Given the description of an element on the screen output the (x, y) to click on. 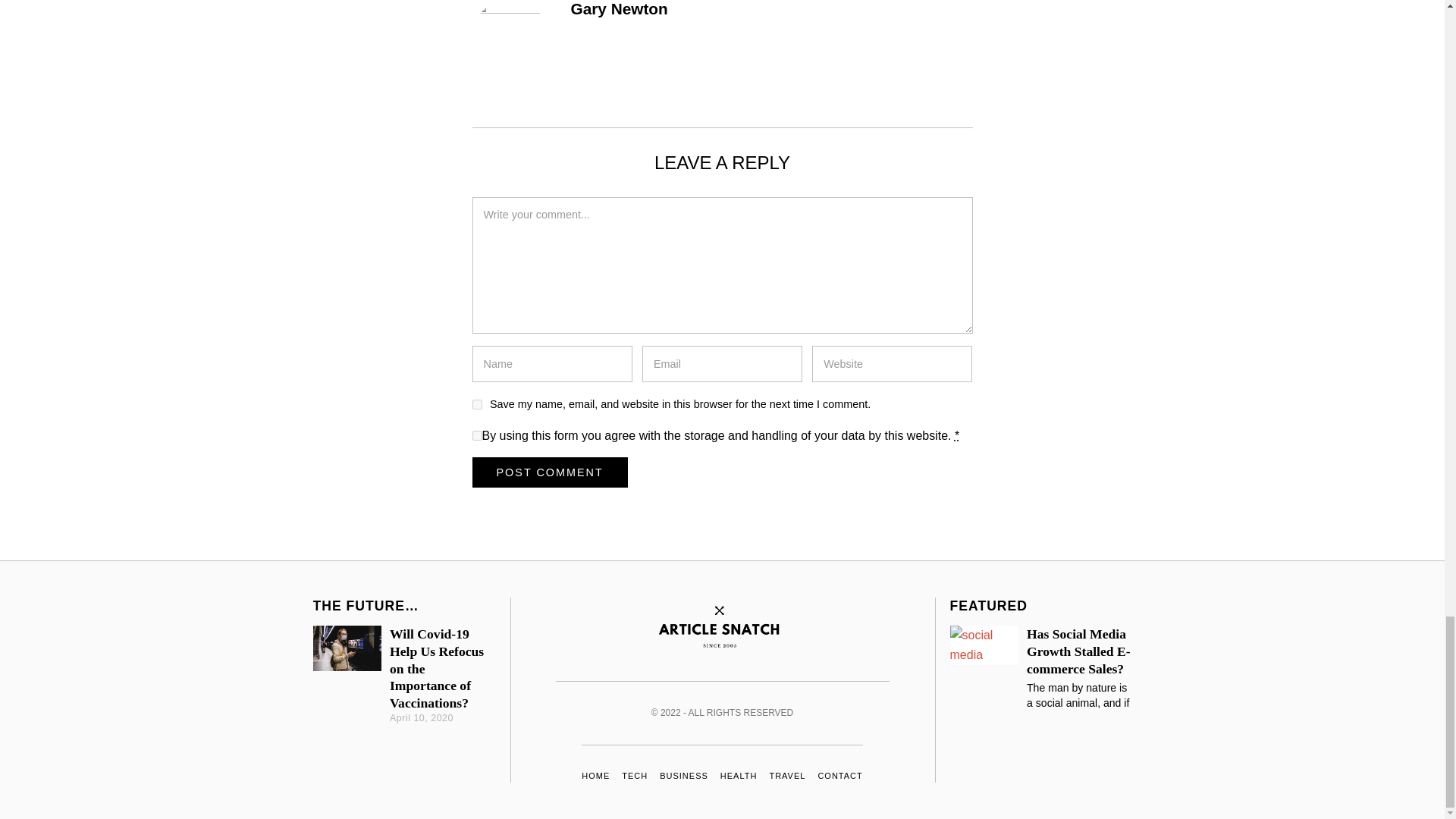
Post Comment (549, 472)
yes (476, 404)
